Given the description of an element on the screen output the (x, y) to click on. 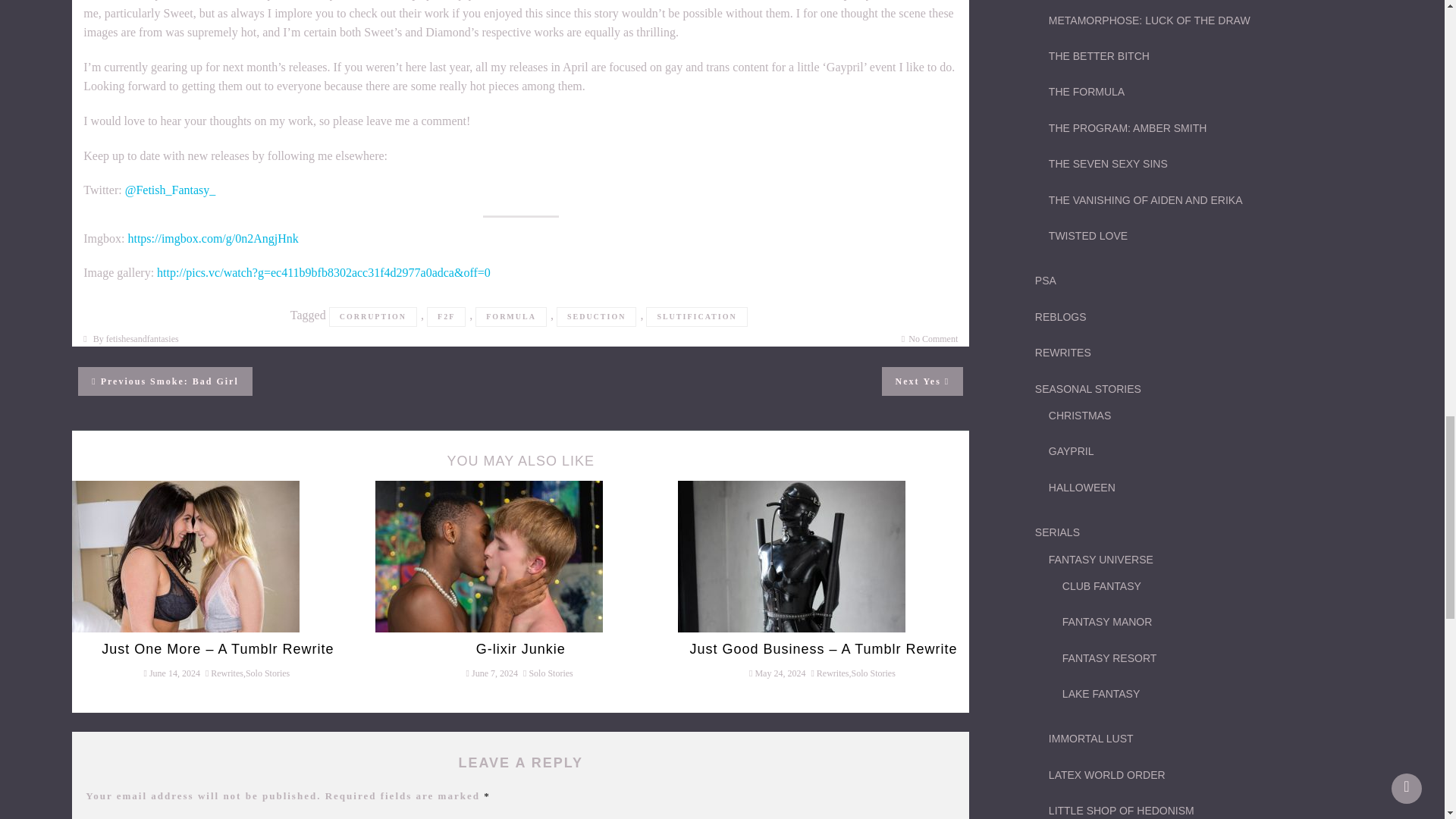
CORRUPTION (372, 316)
F2F (933, 338)
G-lixir Junkie (445, 316)
SEDUCTION (488, 554)
fetishesandfantasies (596, 316)
SLUTIFICATION (164, 380)
FORMULA (142, 338)
